Given the description of an element on the screen output the (x, y) to click on. 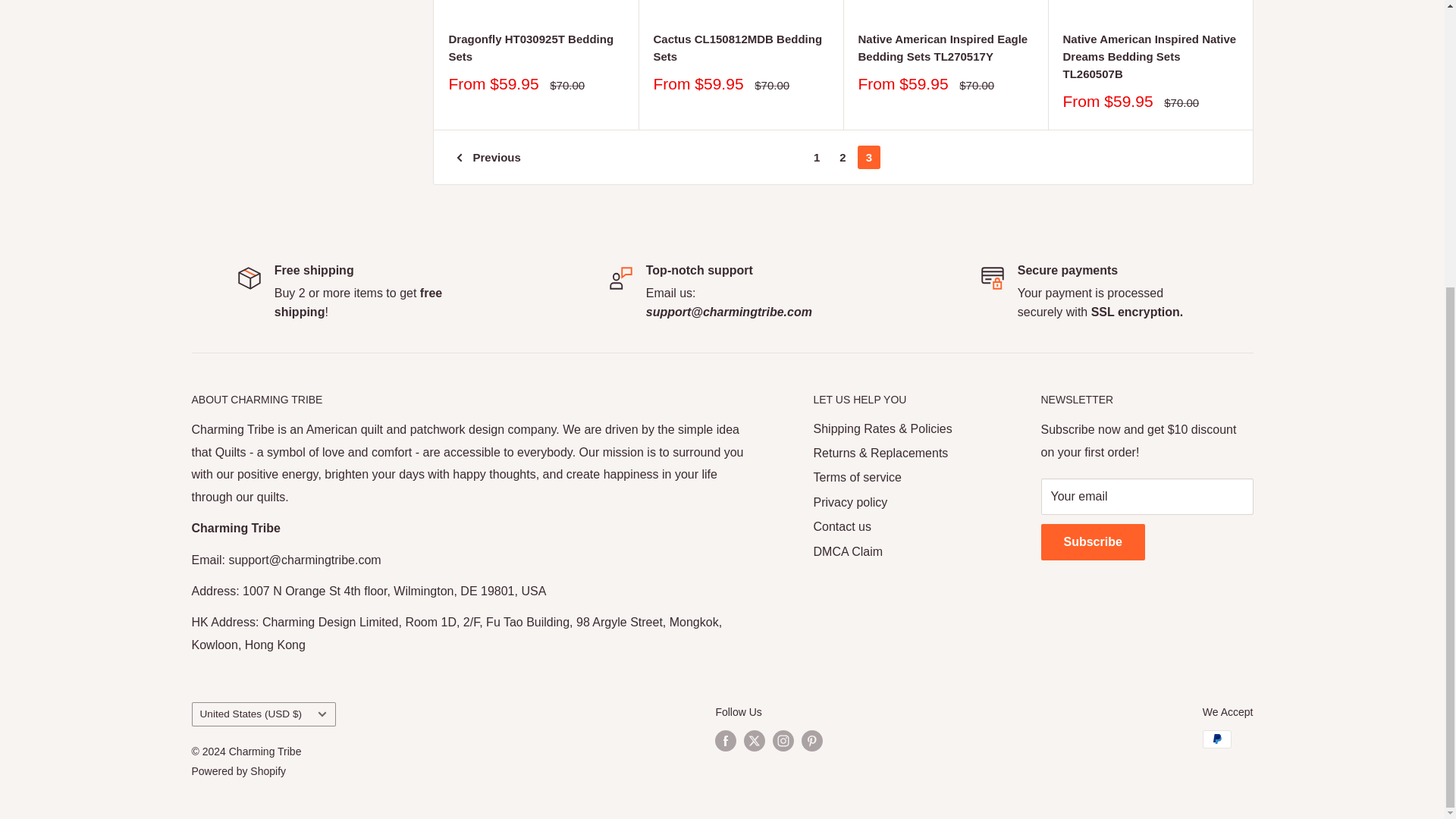
Navigate to page 1 (816, 156)
Previous (489, 156)
Navigate to page 2 (842, 156)
